Given the description of an element on the screen output the (x, y) to click on. 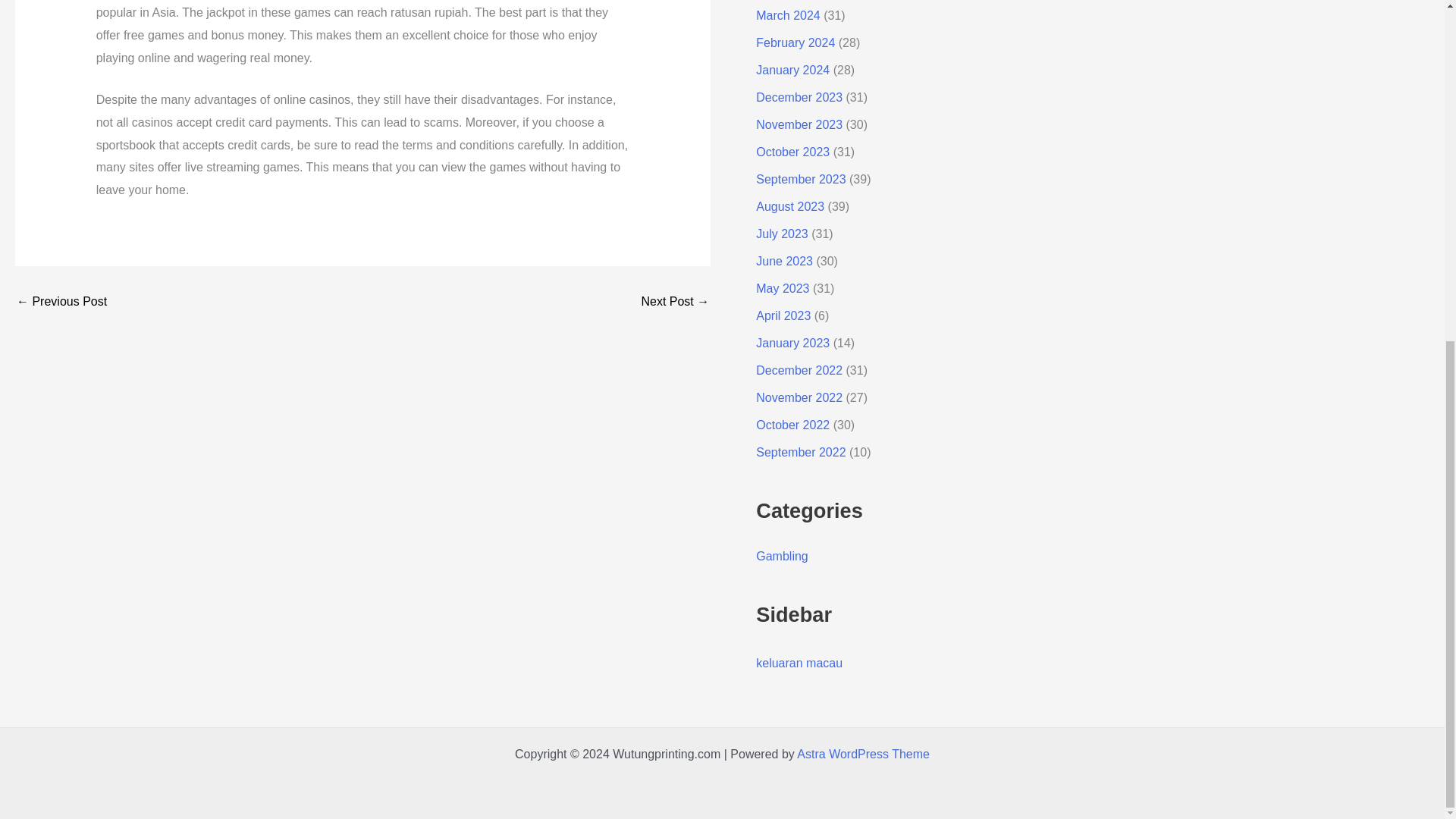
January 2024 (792, 69)
How to Have a Good Casino Online Experience (674, 301)
October 2023 (792, 151)
March 2024 (788, 15)
How to Play Online Poker (61, 301)
November 2022 (799, 397)
Astra WordPress Theme (863, 753)
May 2023 (782, 287)
December 2022 (799, 369)
October 2022 (792, 424)
January 2023 (792, 342)
August 2023 (789, 205)
February 2024 (794, 42)
June 2023 (783, 260)
September 2022 (800, 451)
